Given the description of an element on the screen output the (x, y) to click on. 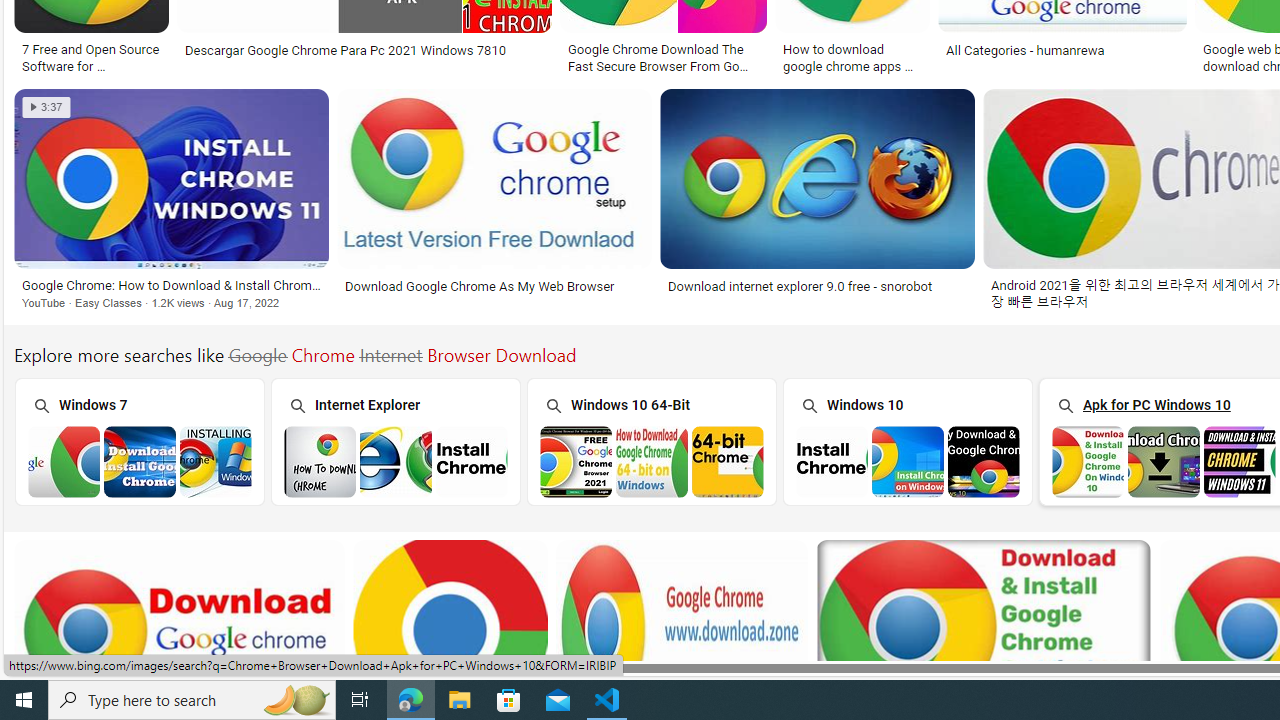
Download Google Chrome As My Web Browser (479, 286)
Chrome Browser Download Windows 10 64-Bit (652, 461)
Google Chrome Download The Fast Secure Browser From Google (663, 56)
How to download google chrome apps - snoml (852, 56)
All Categories - humanrewa (1061, 50)
Download internet explorer 9.0 free - snorobot (817, 286)
Chrome Browser Download Windows 10 (908, 461)
Download Chrome Browser in Internet Explorer (396, 461)
Chrome Browser Download Apk for PC Windows 10 (1164, 461)
